Given the description of an element on the screen output the (x, y) to click on. 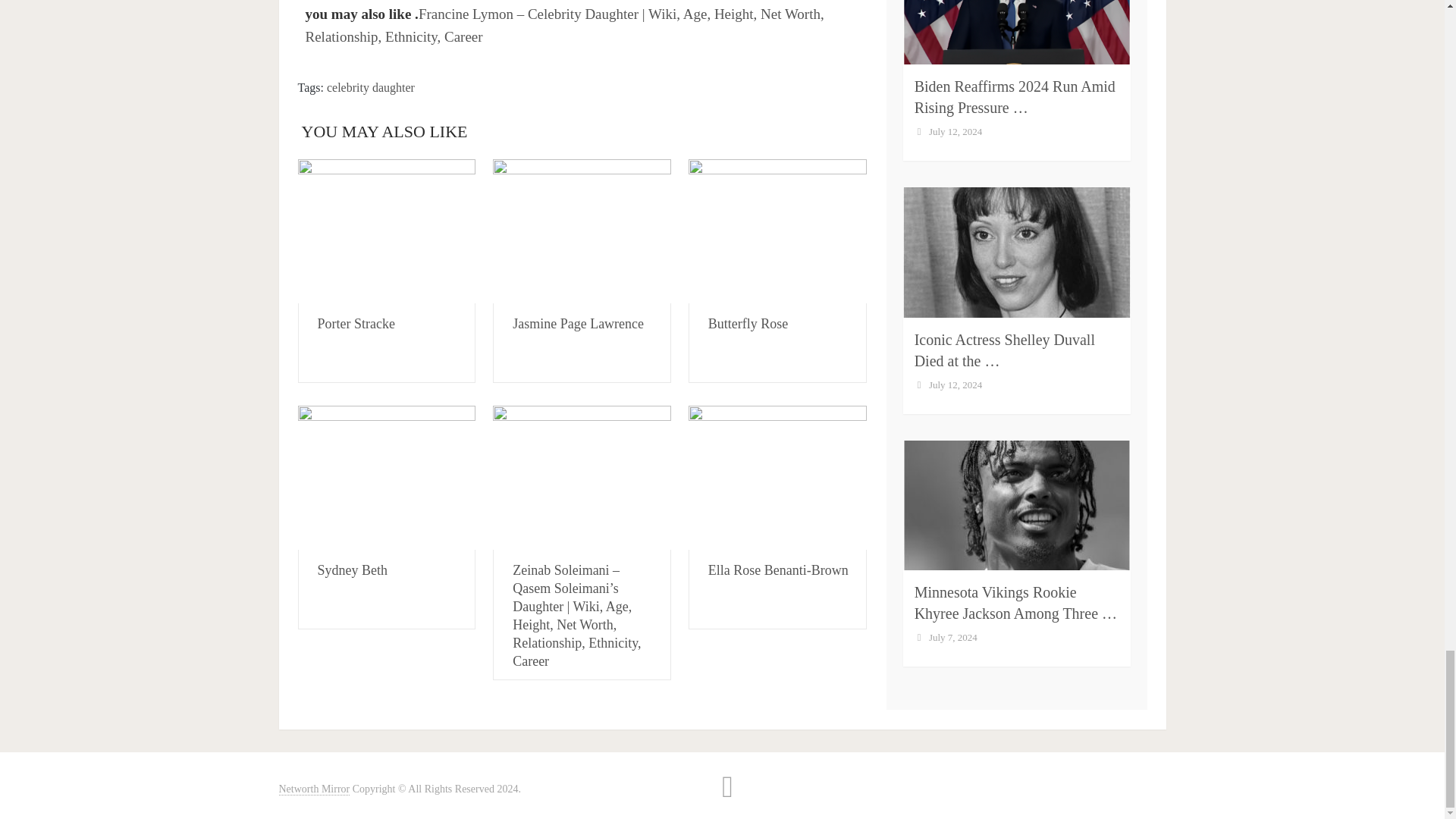
Butterfly Rose (777, 230)
Ella Rose Benanti-Brown (777, 477)
Porter Stracke (386, 230)
Sydney Beth (352, 570)
Butterfly Rose (748, 323)
Jasmine Page Lawrence (582, 230)
celebrity daughter (370, 87)
Jasmine Page Lawrence (577, 323)
Porter Stracke (355, 323)
Sydney Beth (386, 477)
